Given the description of an element on the screen output the (x, y) to click on. 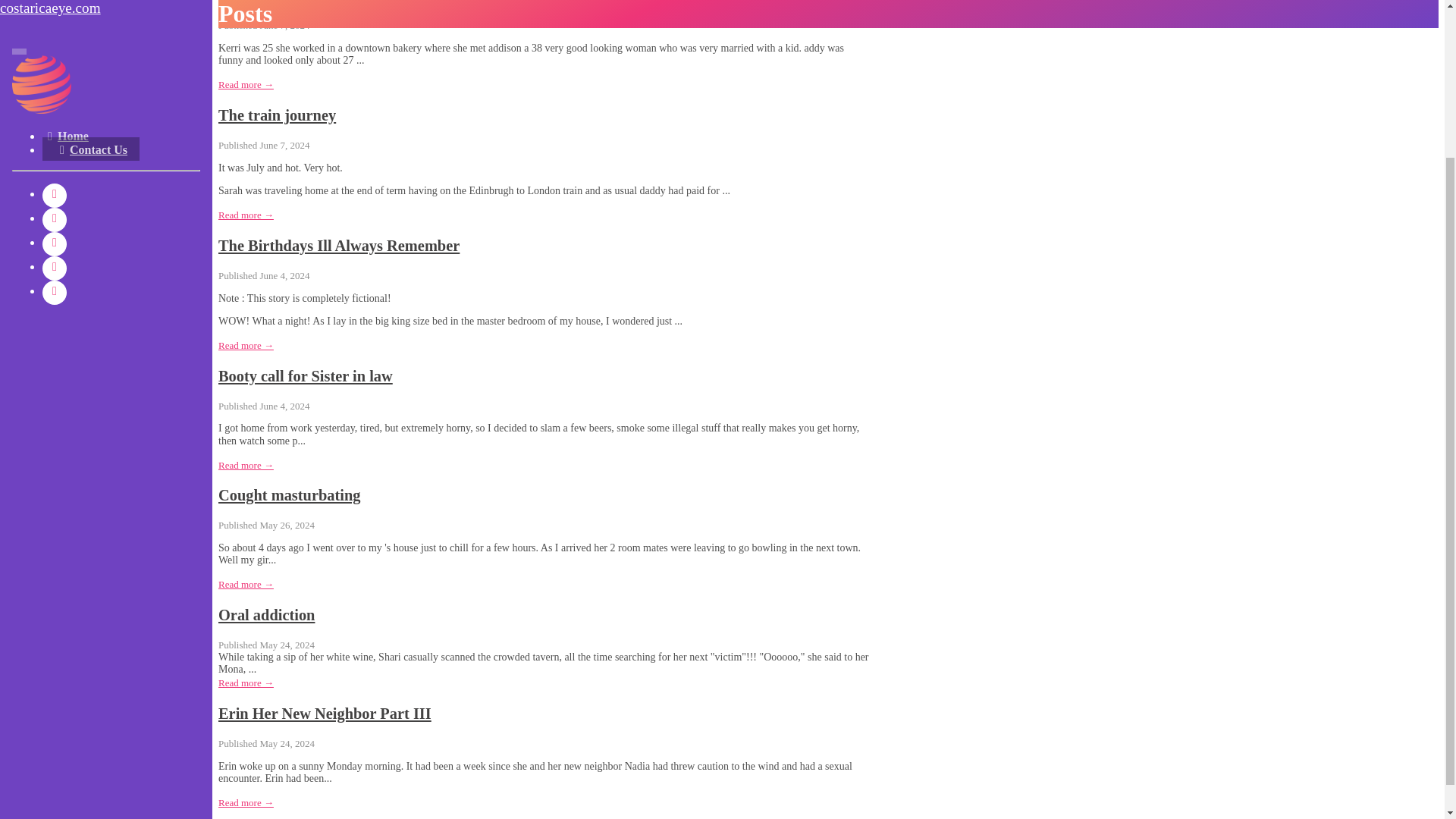
Lust 11 (242, 2)
The train journey (277, 115)
Erin Her New Neighbor Part III (324, 713)
Booty call for Sister in law (305, 375)
The Birthdays Ill Always Remember (339, 245)
Cought masturbating (289, 494)
Oral addiction (266, 614)
